Given the description of an element on the screen output the (x, y) to click on. 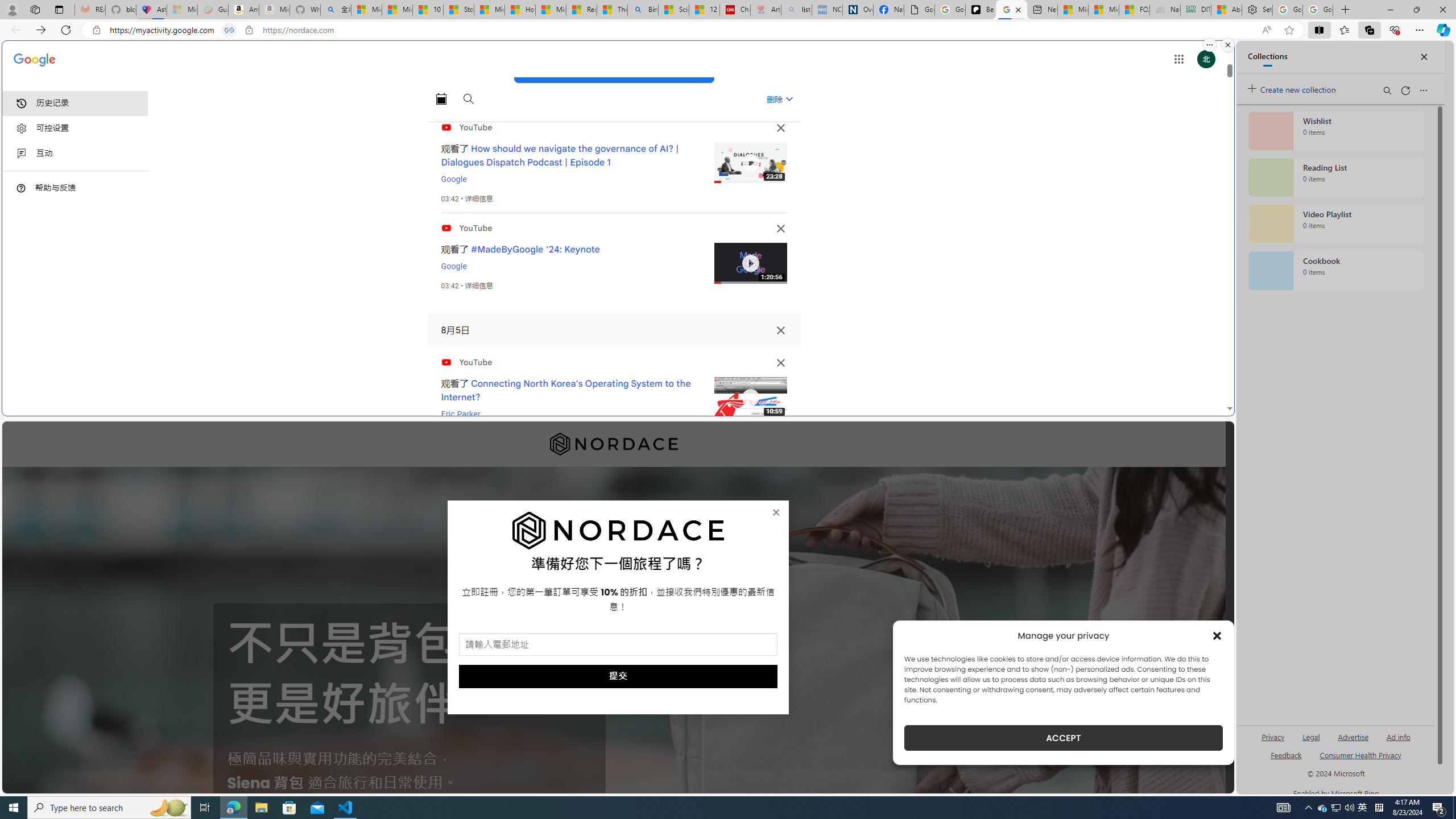
Arthritis: Ask Health Professionals - Sleeping (765, 9)
Google Analytics Opt-out Browser Add-on Download Page (919, 9)
Nordace (613, 443)
AutomationID: input_5_1 (617, 644)
Tabs in split screen (228, 29)
AutomationID: field_5_1 (617, 645)
Class: DI7Mnf NMm5M (780, 330)
